Given the description of an element on the screen output the (x, y) to click on. 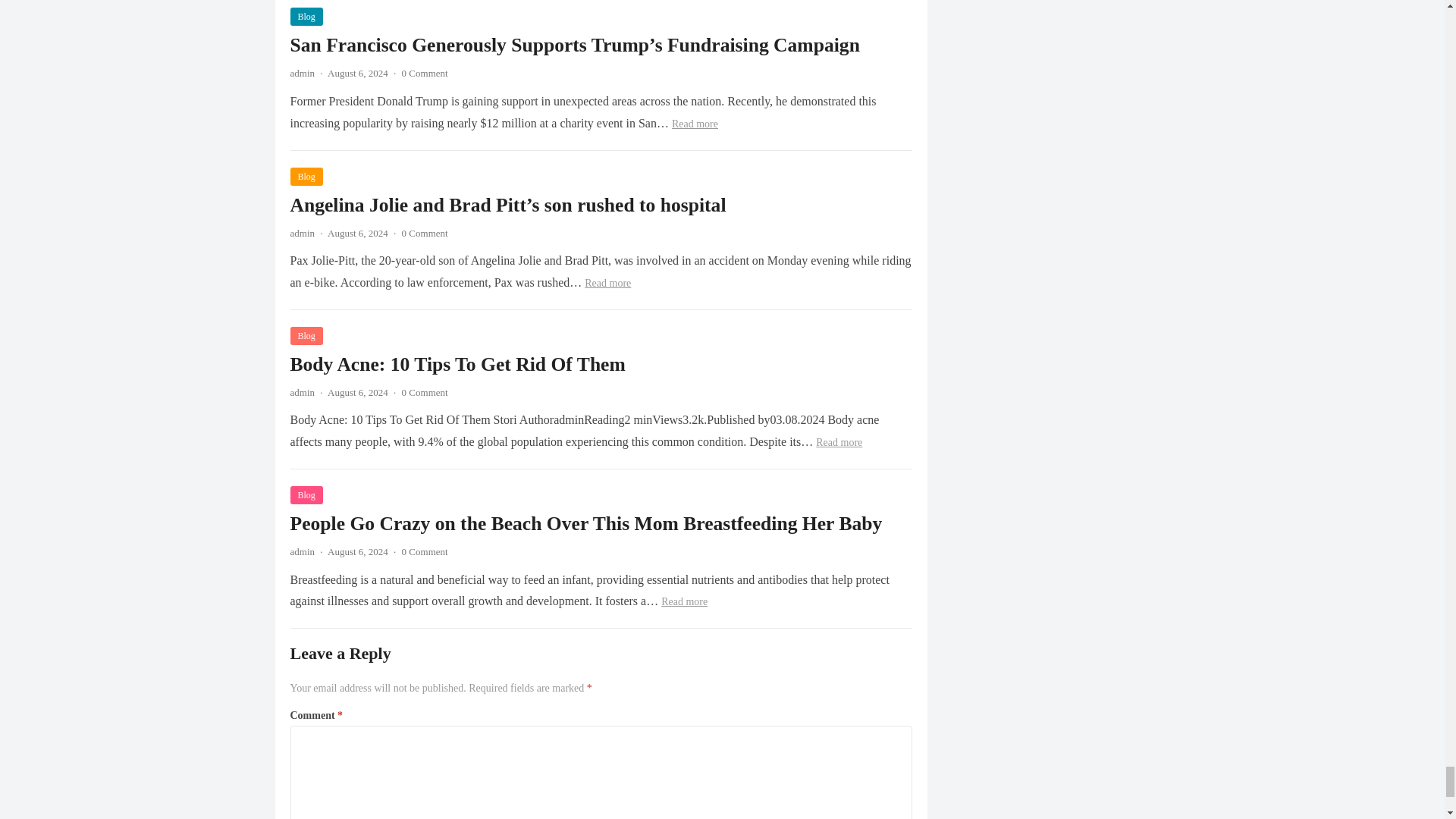
0 Comment (424, 392)
0 Comment (424, 233)
Posts by admin (301, 72)
Posts by admin (301, 233)
Blog (305, 335)
admin (301, 392)
Read more (694, 123)
Posts by admin (301, 392)
Blog (305, 176)
